Given the description of an element on the screen output the (x, y) to click on. 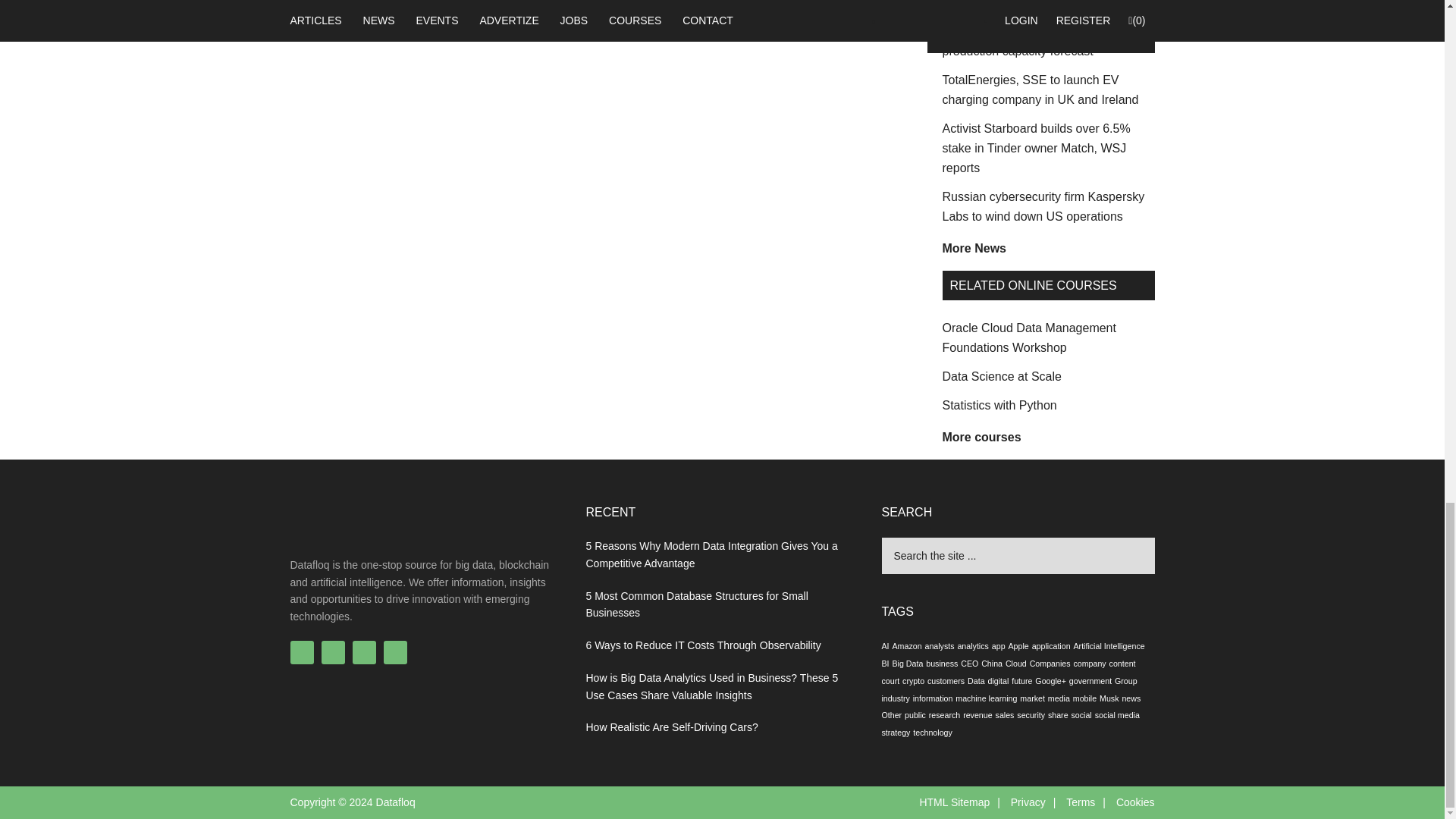
Trump VP pick supports Big Tech antitrust crackdown (1030, 4)
Data Science at Scale (1001, 376)
Statistics with Python (999, 404)
Oracle Cloud Data Management Foundations Workshop (1028, 337)
